Given the description of an element on the screen output the (x, y) to click on. 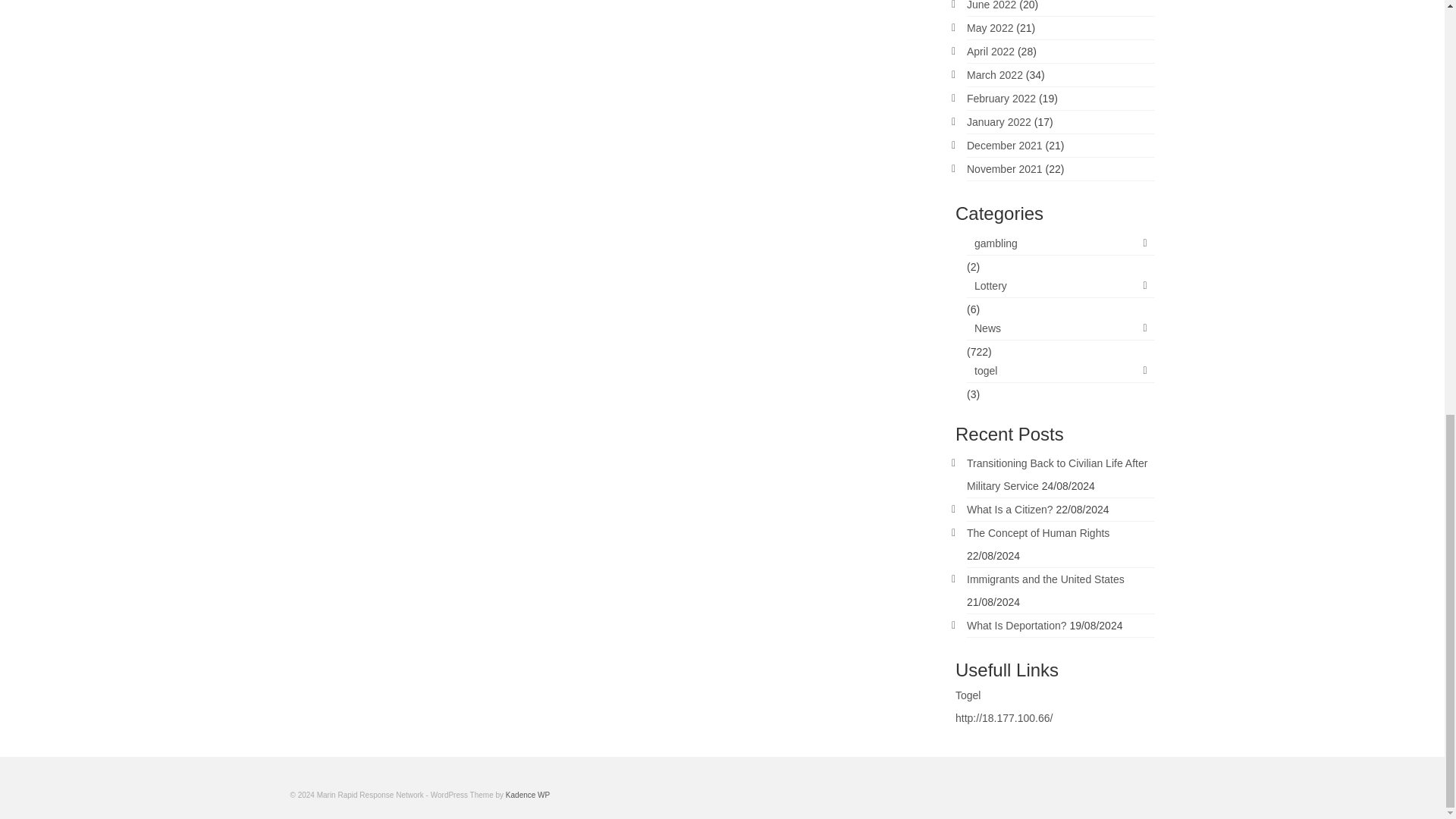
May 2022 (989, 28)
March 2022 (994, 74)
June 2022 (991, 5)
April 2022 (990, 51)
February 2022 (1000, 98)
